Given the description of an element on the screen output the (x, y) to click on. 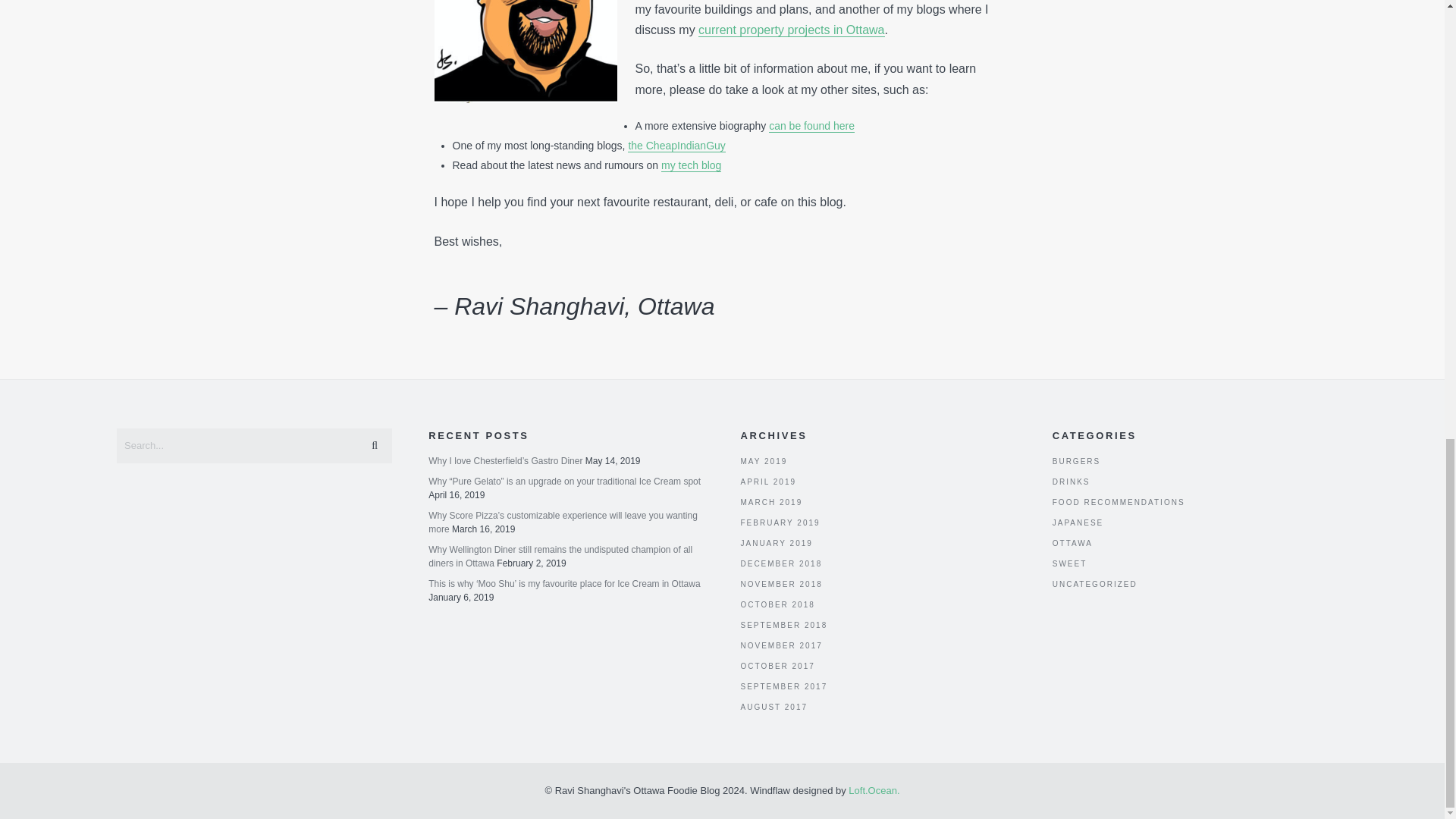
OTTAWA (1072, 542)
my tech blog (690, 164)
NOVEMBER 2017 (780, 645)
BURGERS (1076, 461)
WordPress Themes by Loft.Ocean (873, 790)
JANUARY 2019 (775, 542)
OCTOBER 2017 (776, 665)
AUGUST 2017 (773, 706)
SWEET (1069, 563)
can be found here (811, 125)
the CheapIndianGuy (676, 145)
FEBRUARY 2019 (779, 522)
DECEMBER 2018 (780, 563)
FOOD RECOMMENDATIONS (1118, 501)
Loft.Ocean. (873, 790)
